Given the description of an element on the screen output the (x, y) to click on. 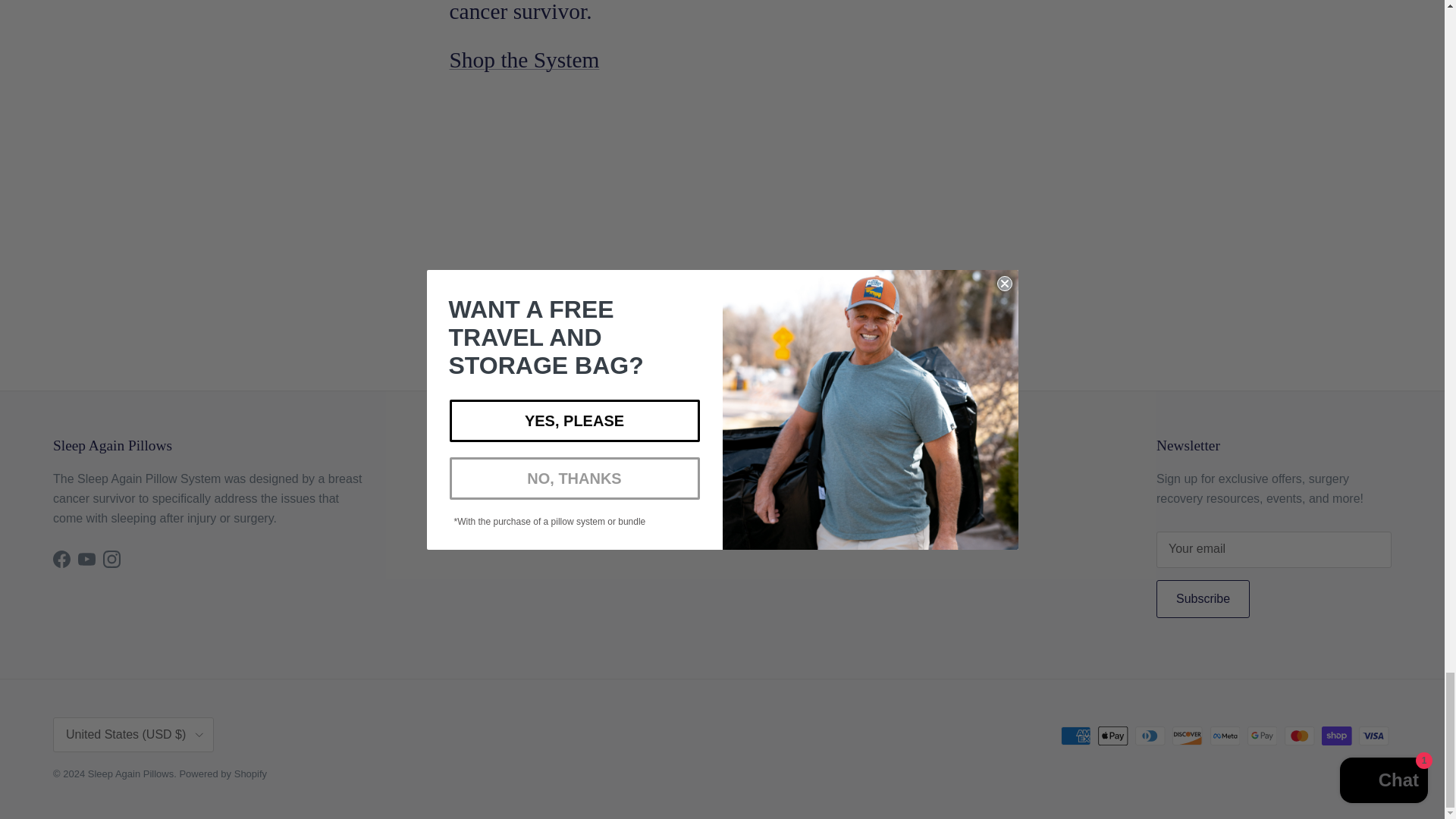
Sleep Again Pillows on Instagram (111, 559)
Shop Pay (1336, 735)
Discover (1187, 735)
Mastercard (1299, 735)
Meta Pay (1224, 735)
American Express (1075, 735)
Diners Club (1149, 735)
Sleep Again Pillows on YouTube (87, 559)
Mastectomy Pillow (523, 59)
Apple Pay (1112, 735)
Sleep Again Pillows on Facebook (60, 559)
Visa (1373, 735)
Google Pay (1261, 735)
